Given the description of an element on the screen output the (x, y) to click on. 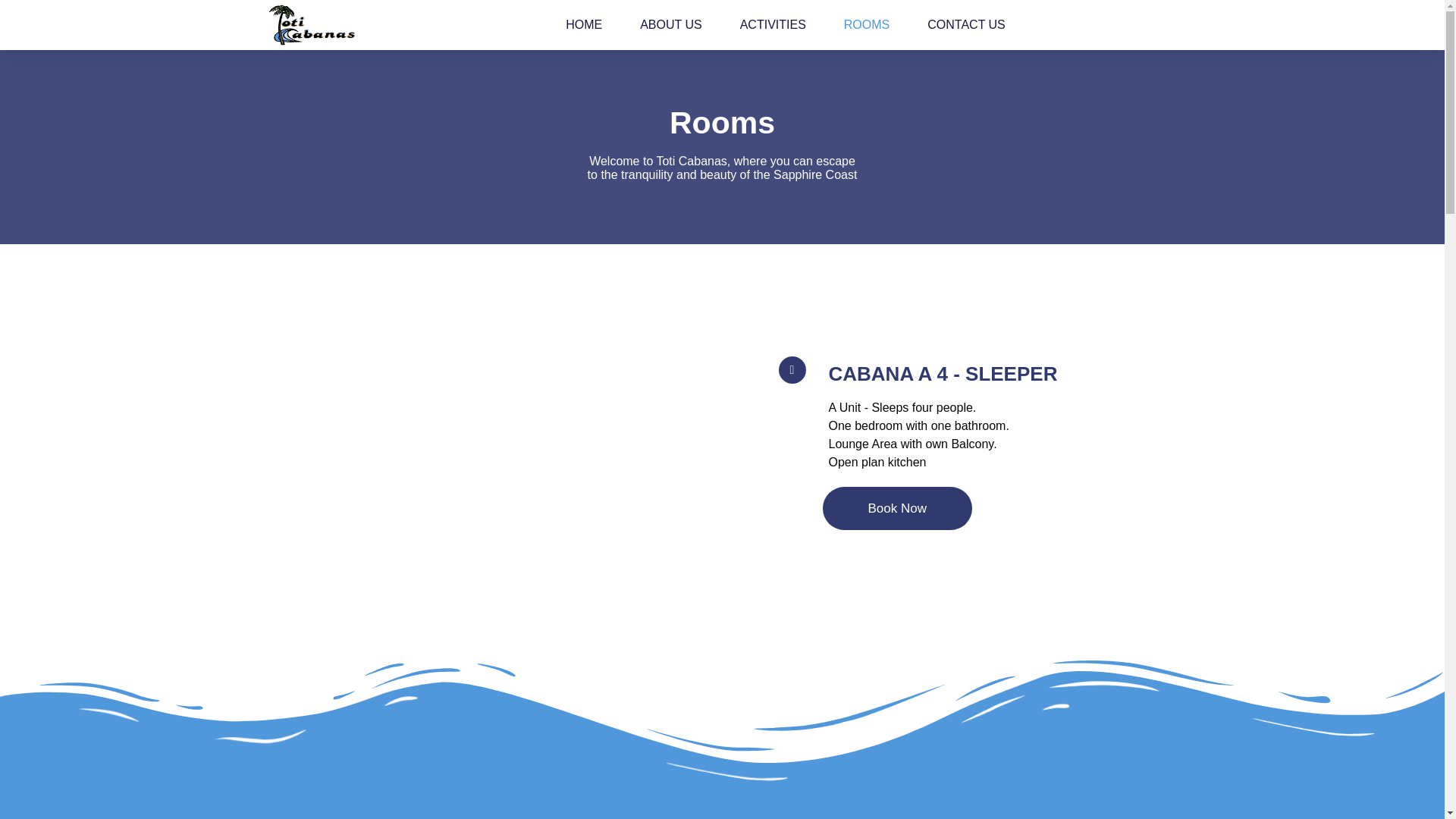
ABOUT US (670, 24)
ACTIVITIES (772, 24)
CONTACT US (966, 24)
ROOMS (866, 24)
HOME (584, 24)
Book Now (896, 507)
